Given the description of an element on the screen output the (x, y) to click on. 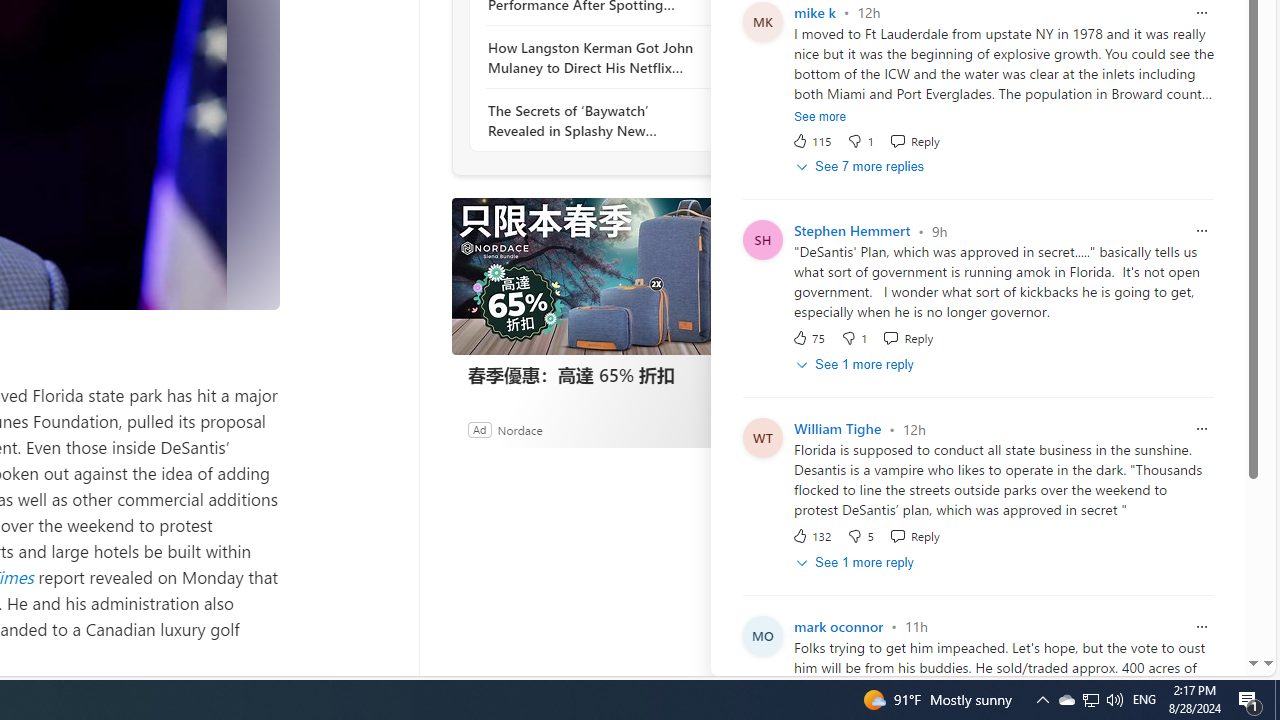
Profile Picture (762, 634)
Dislike (859, 536)
mark oconnor (838, 626)
See 7 more replies (861, 167)
